Given the description of an element on the screen output the (x, y) to click on. 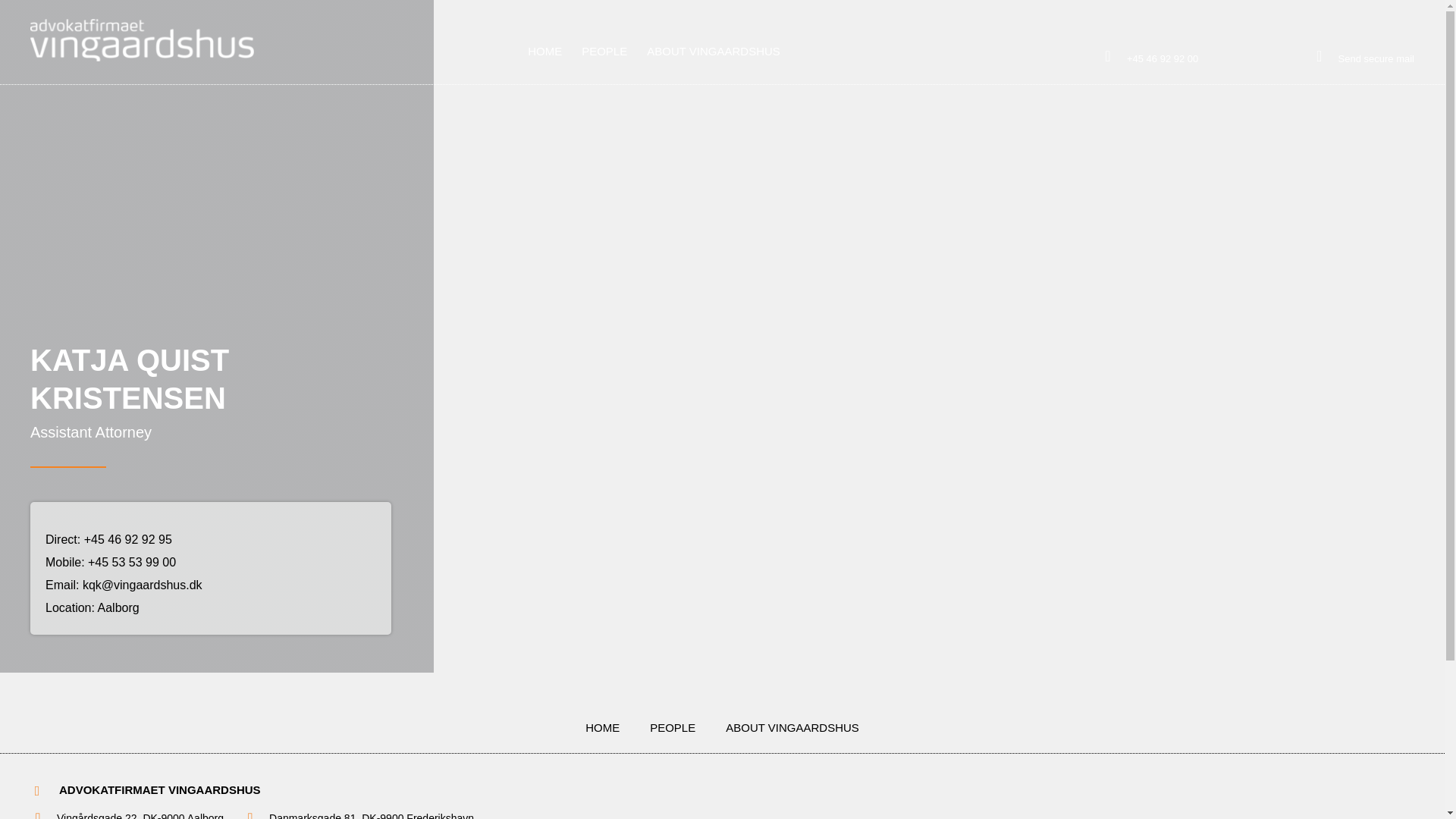
ABOUT VINGAARDSHUS (713, 51)
HOME (602, 727)
Send secure mail (1375, 58)
PEOPLE (672, 727)
PEOPLE (604, 51)
ABOUT VINGAARDSHUS (792, 727)
DA (1403, 27)
HOME (545, 51)
